Given the description of an element on the screen output the (x, y) to click on. 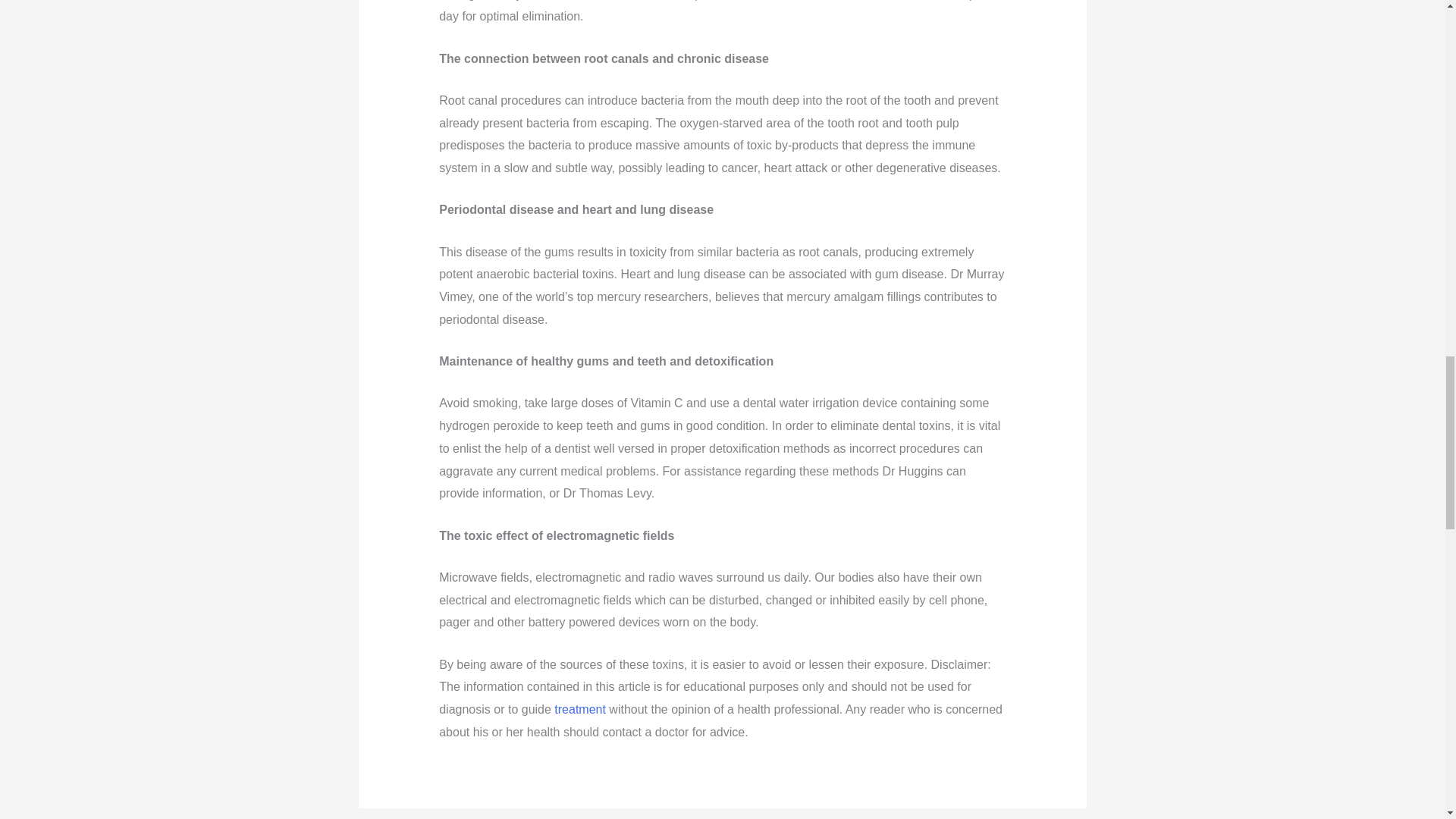
treatment (579, 708)
